Given the description of an element on the screen output the (x, y) to click on. 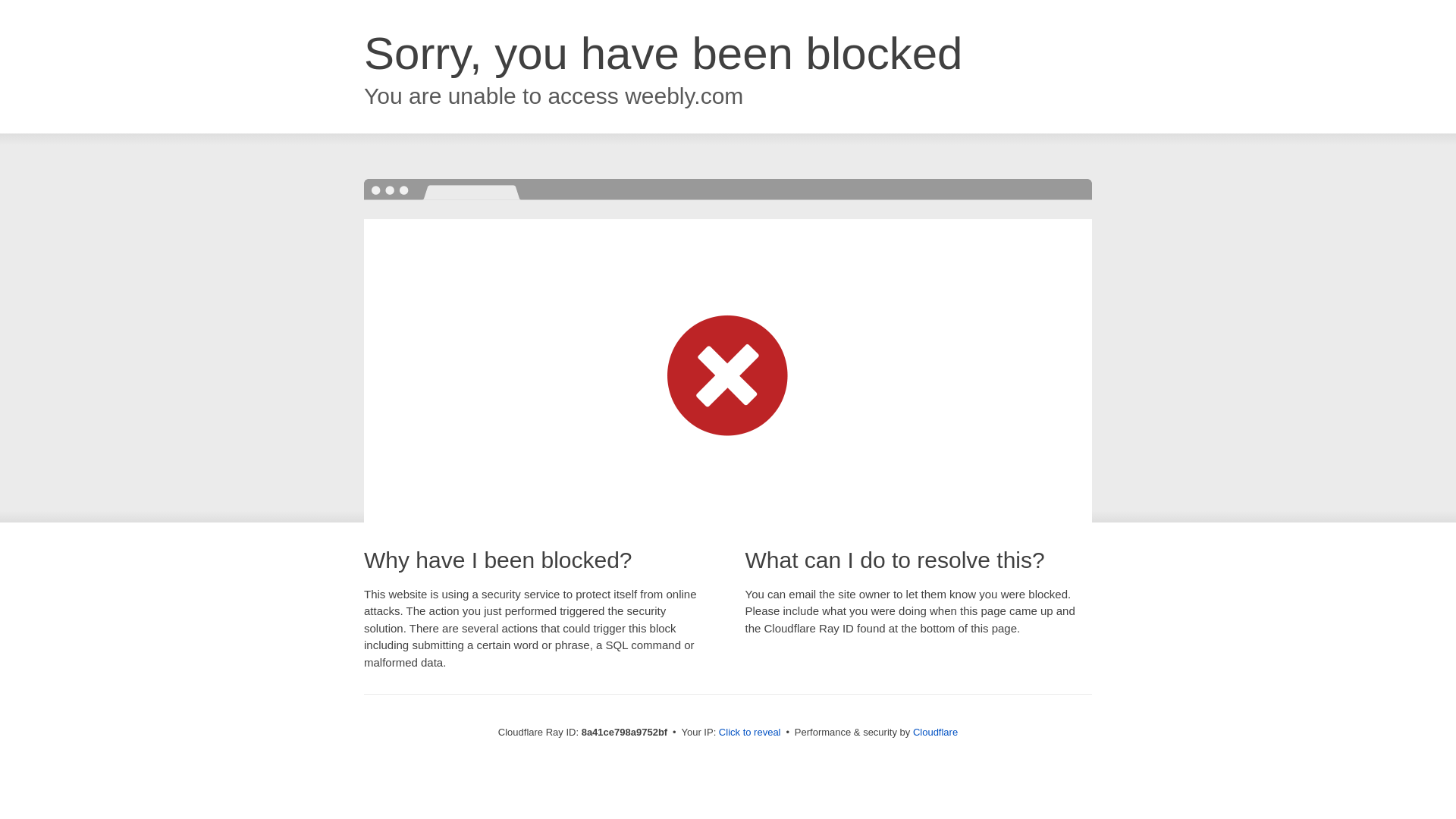
Click to reveal (749, 732)
Cloudflare (935, 731)
